Given the description of an element on the screen output the (x, y) to click on. 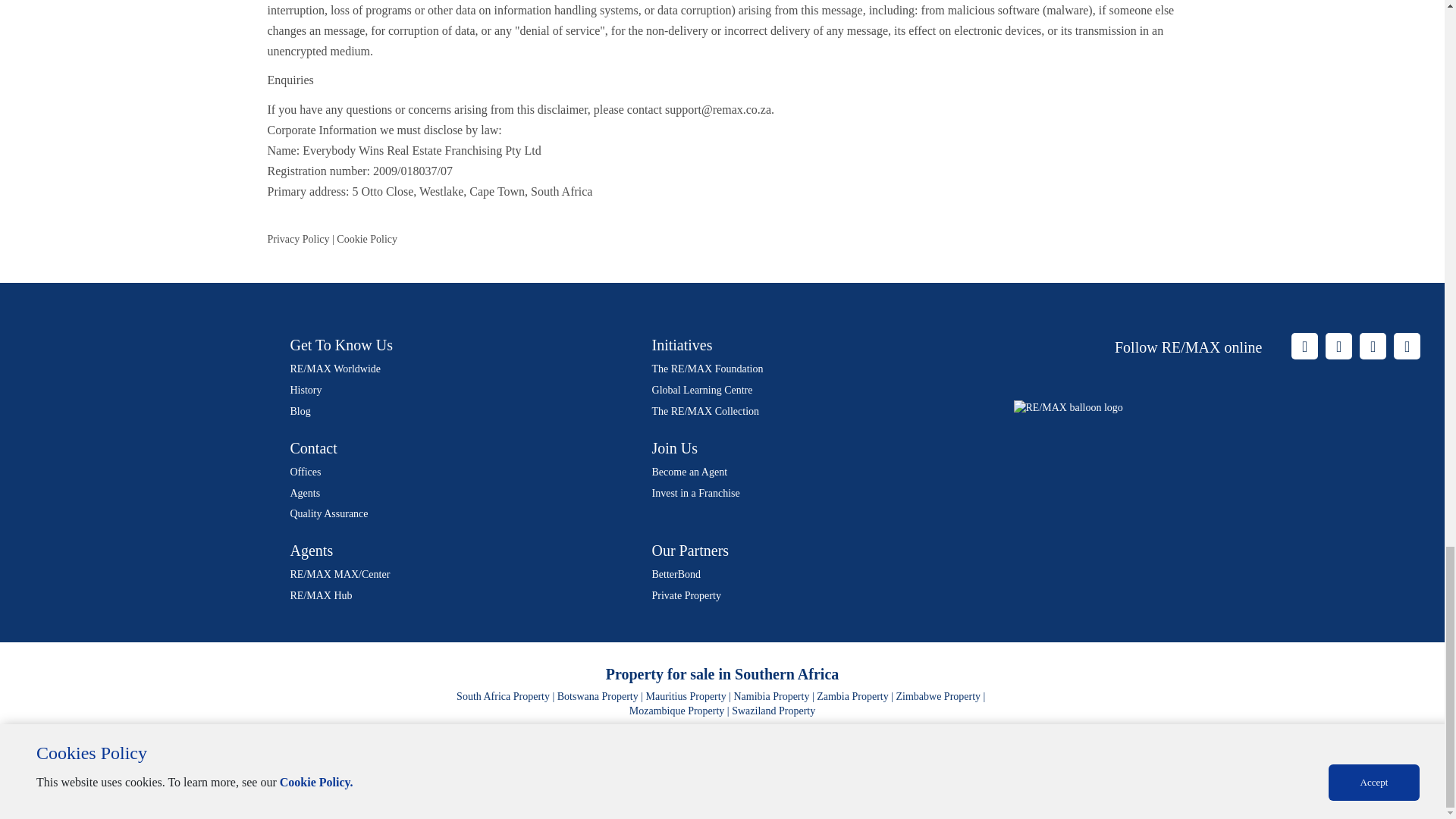
Privacy Policy (297, 238)
Become an Agent (690, 471)
Blog (299, 410)
Offices (304, 471)
Cookie Policy (366, 238)
History (305, 389)
Global Learning Centre (702, 389)
Quality Assurance (328, 513)
Agents (304, 492)
